Given the description of an element on the screen output the (x, y) to click on. 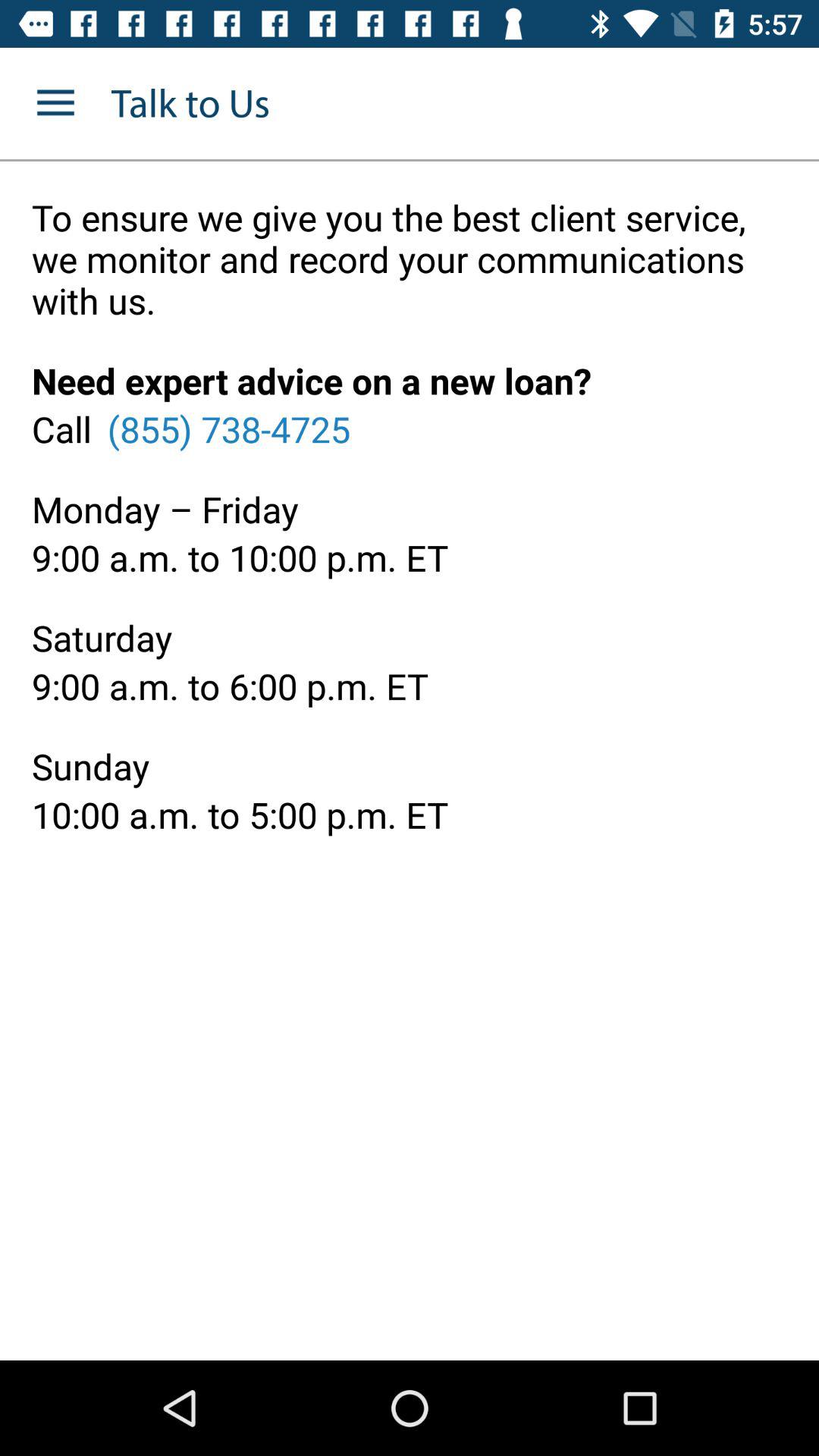
click the item to the left of the talk to us icon (55, 103)
